Given the description of an element on the screen output the (x, y) to click on. 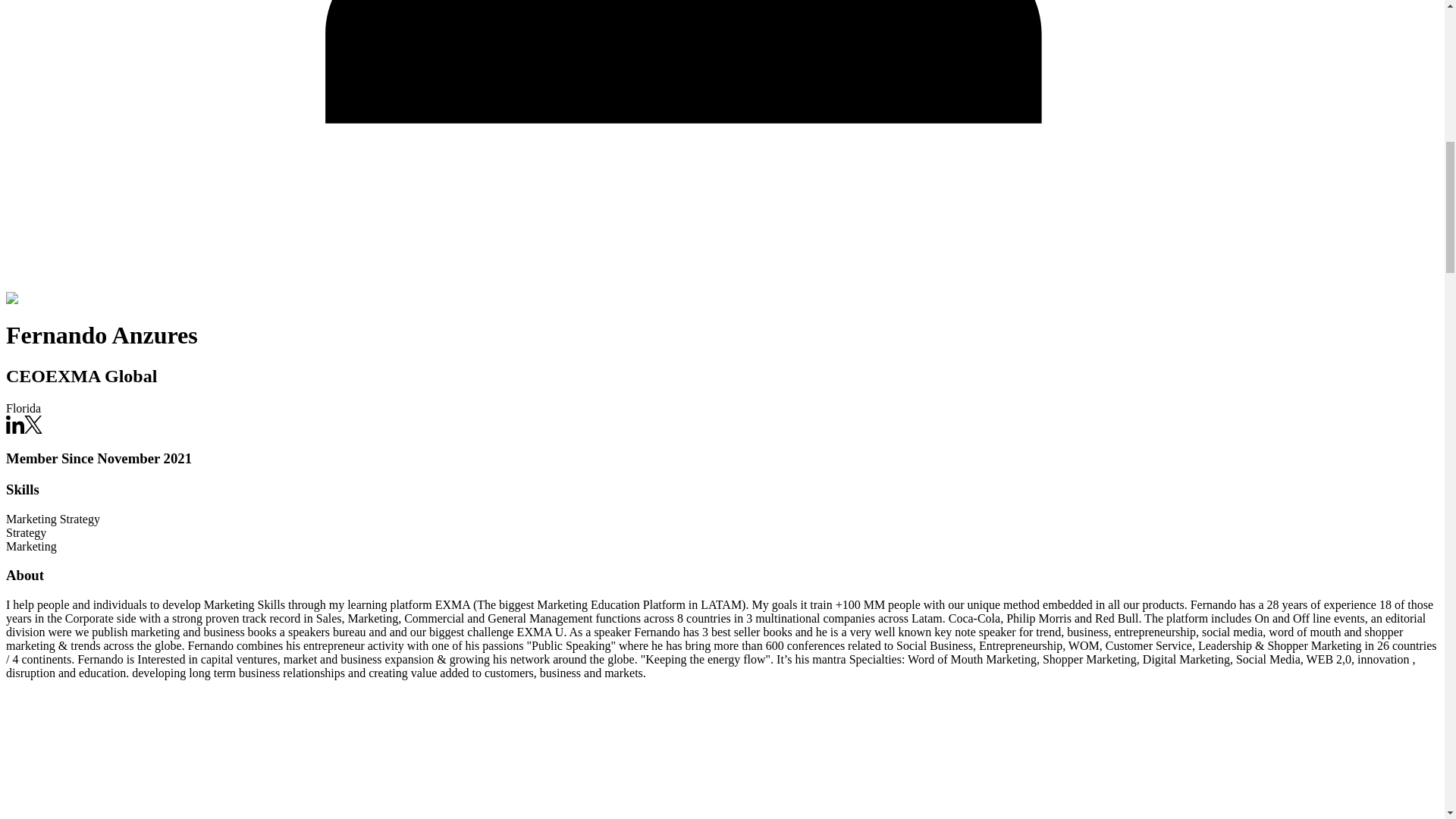
X (33, 429)
LinkedIn (14, 429)
X (33, 424)
LinkedIn (14, 424)
